Given the description of an element on the screen output the (x, y) to click on. 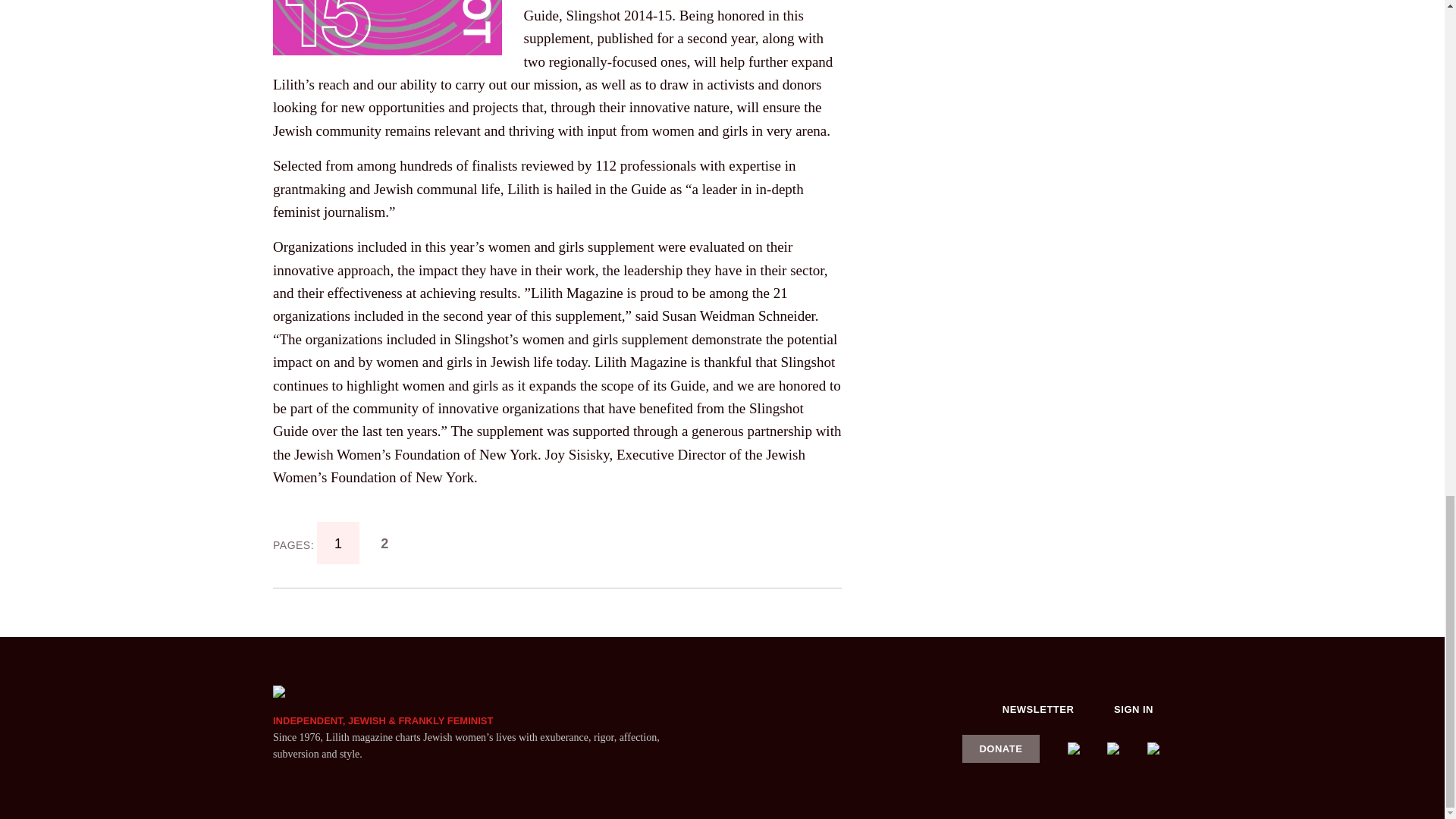
DONATE (1000, 748)
NEWSLETTER (1038, 709)
SIGN IN (1134, 709)
2 (385, 542)
